Given the description of an element on the screen output the (x, y) to click on. 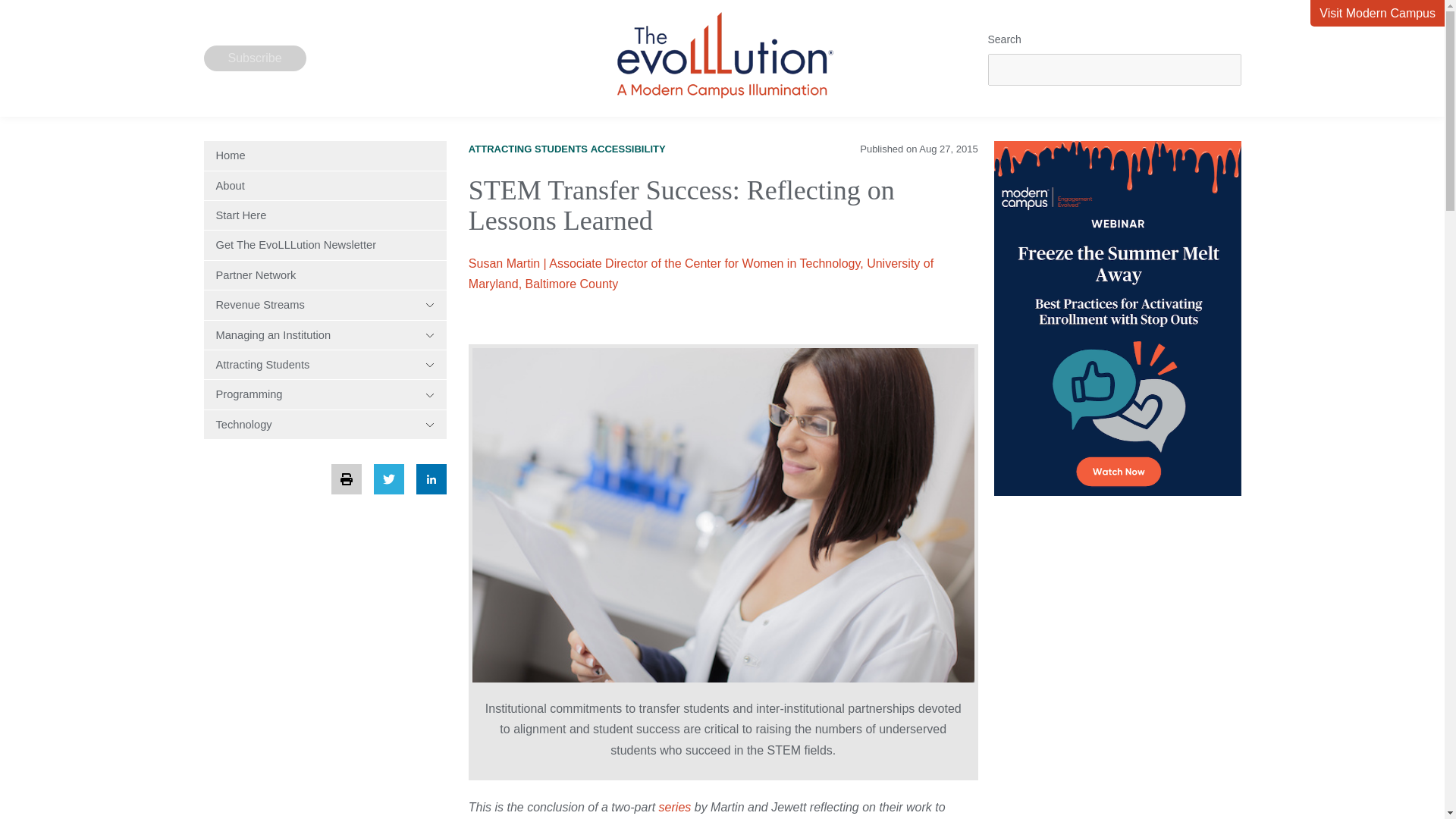
Home (324, 154)
Start Here (324, 215)
Subscribe (254, 58)
Get The EvoLLLution Newsletter (324, 244)
Partner Network (324, 275)
Managing an Institution (324, 335)
Revenue Streams (324, 304)
About (324, 185)
Programming (324, 394)
Attracting Students (324, 364)
